Given the description of an element on the screen output the (x, y) to click on. 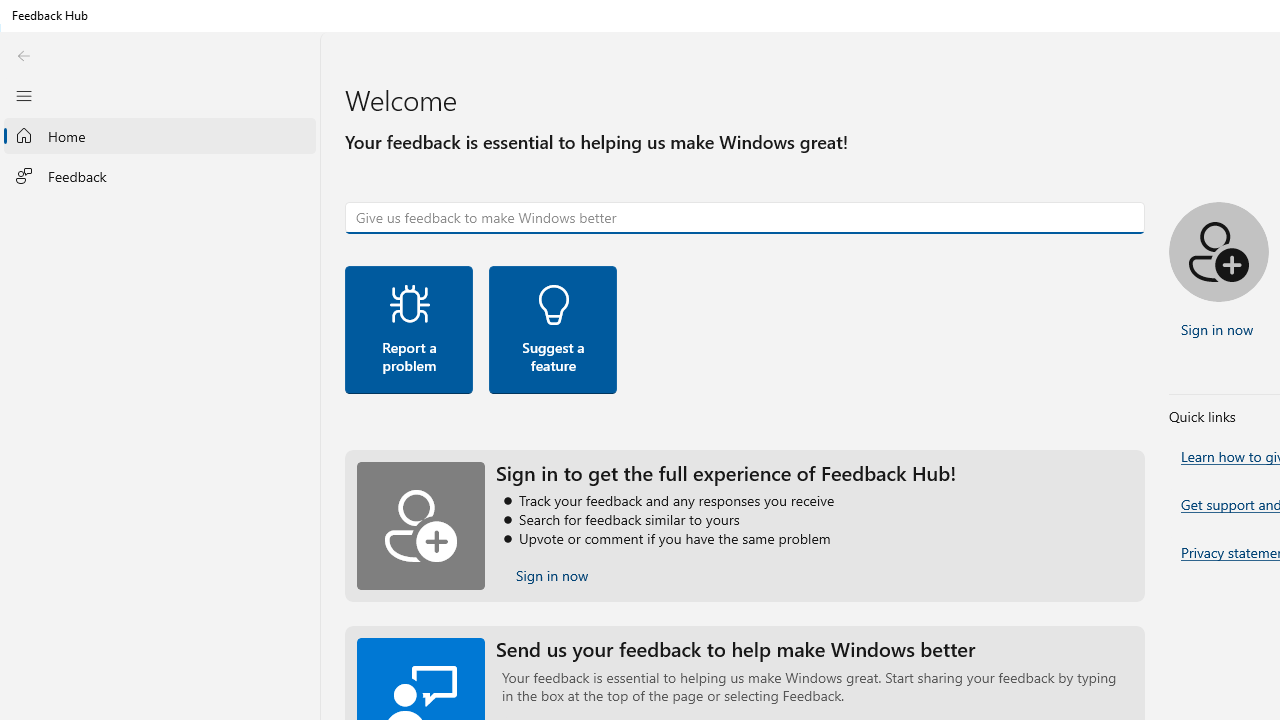
Back (23, 56)
Suggest a feature (552, 329)
Home (159, 136)
Report a problem (409, 329)
Sign in now (552, 575)
Give us feedback to make Windows better (745, 218)
Close Navigation (23, 95)
Feedback (159, 175)
